Given the description of an element on the screen output the (x, y) to click on. 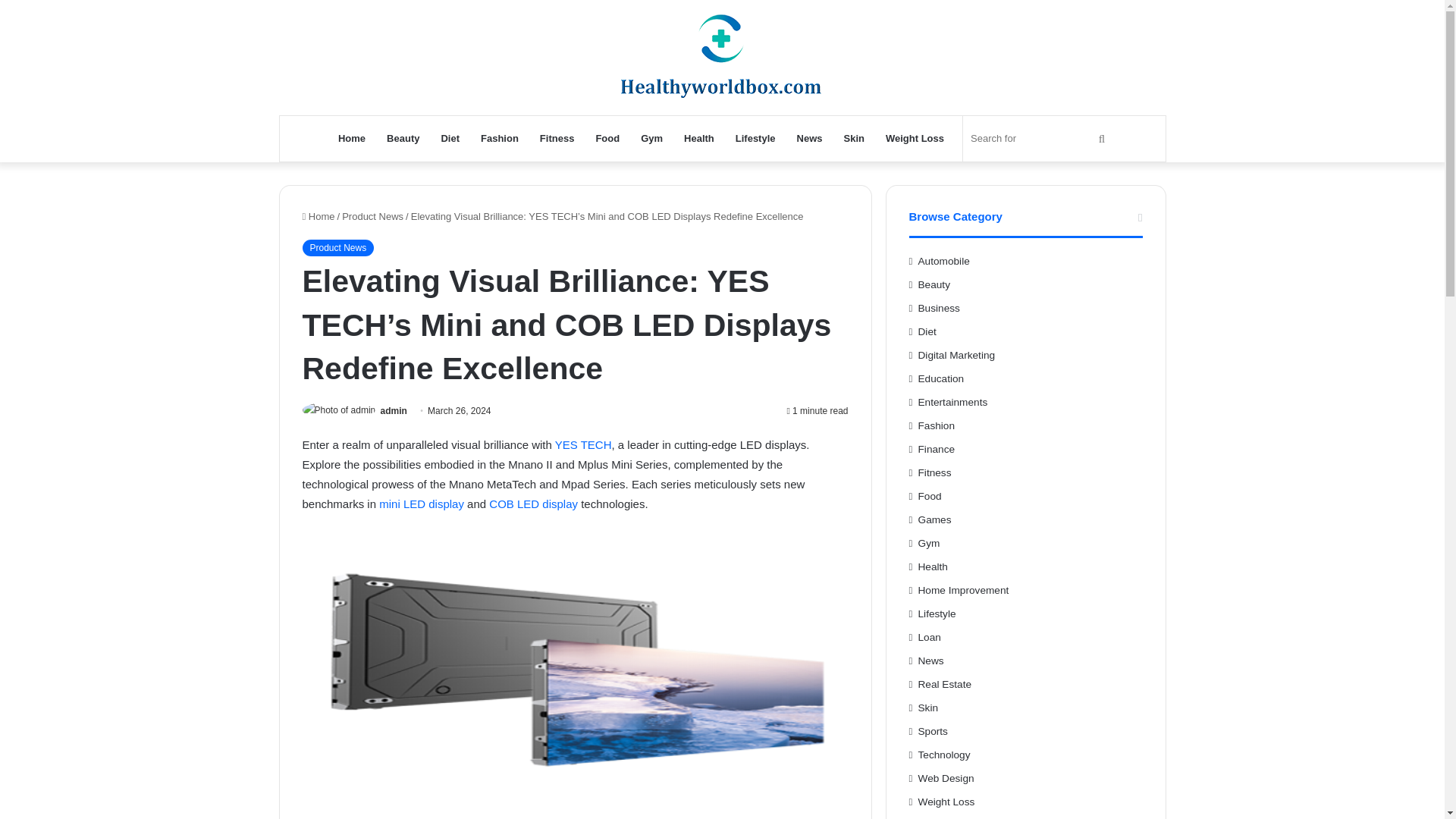
Skin (853, 138)
Healthy World Box (721, 57)
Search for (1039, 138)
Gym (651, 138)
COB LED display (533, 503)
mini LED display (421, 503)
Home (317, 215)
Food (607, 138)
admin (393, 410)
Fitness (557, 138)
